Given the description of an element on the screen output the (x, y) to click on. 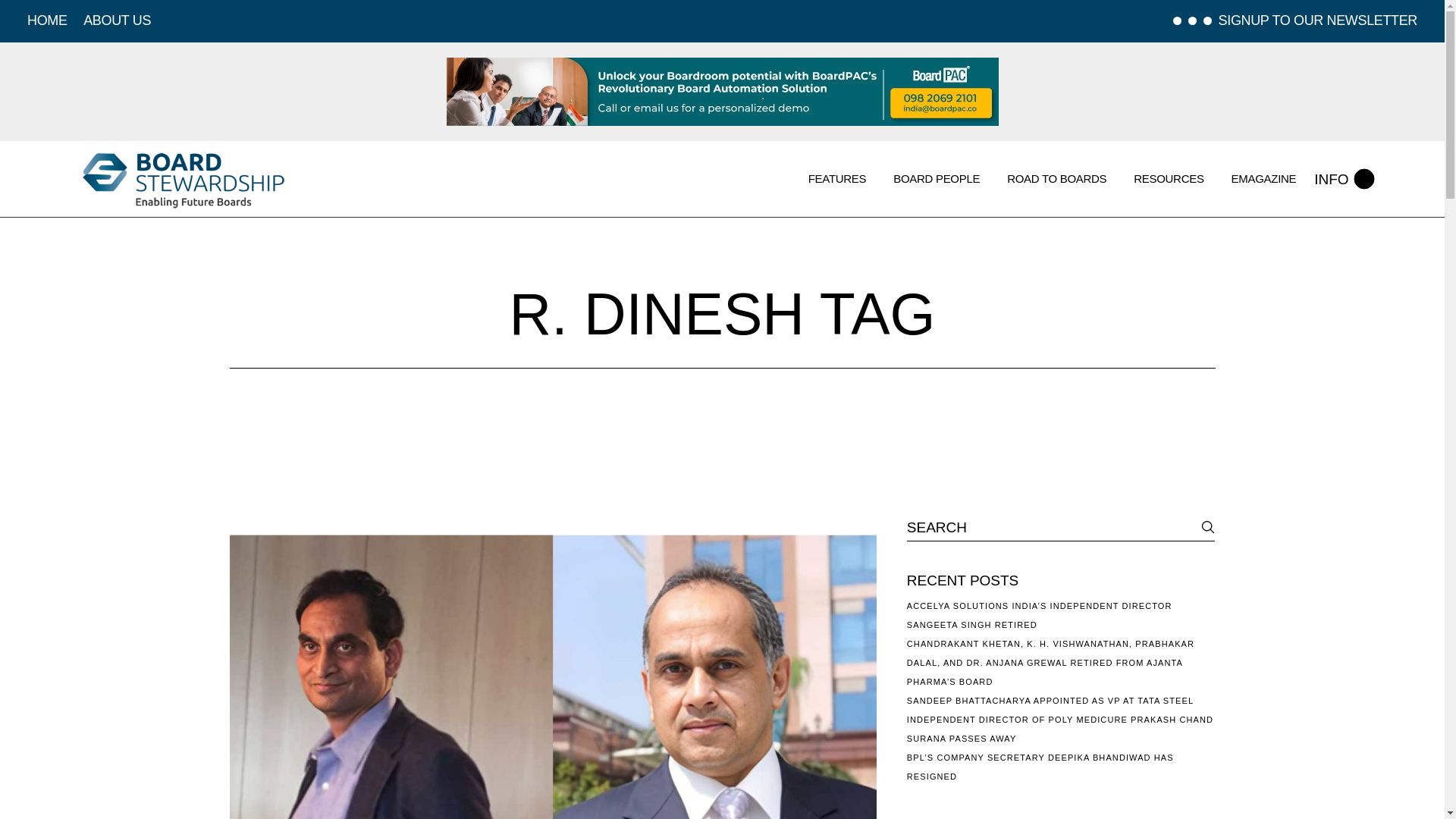
INFO (1343, 178)
RESOURCES (1169, 178)
ROAD TO BOARDS (1056, 178)
ABOUT US (116, 20)
BOARD PEOPLE (936, 178)
HOME (46, 20)
SIGNUP TO OUR NEWSLETTER (1317, 20)
